Given the description of an element on the screen output the (x, y) to click on. 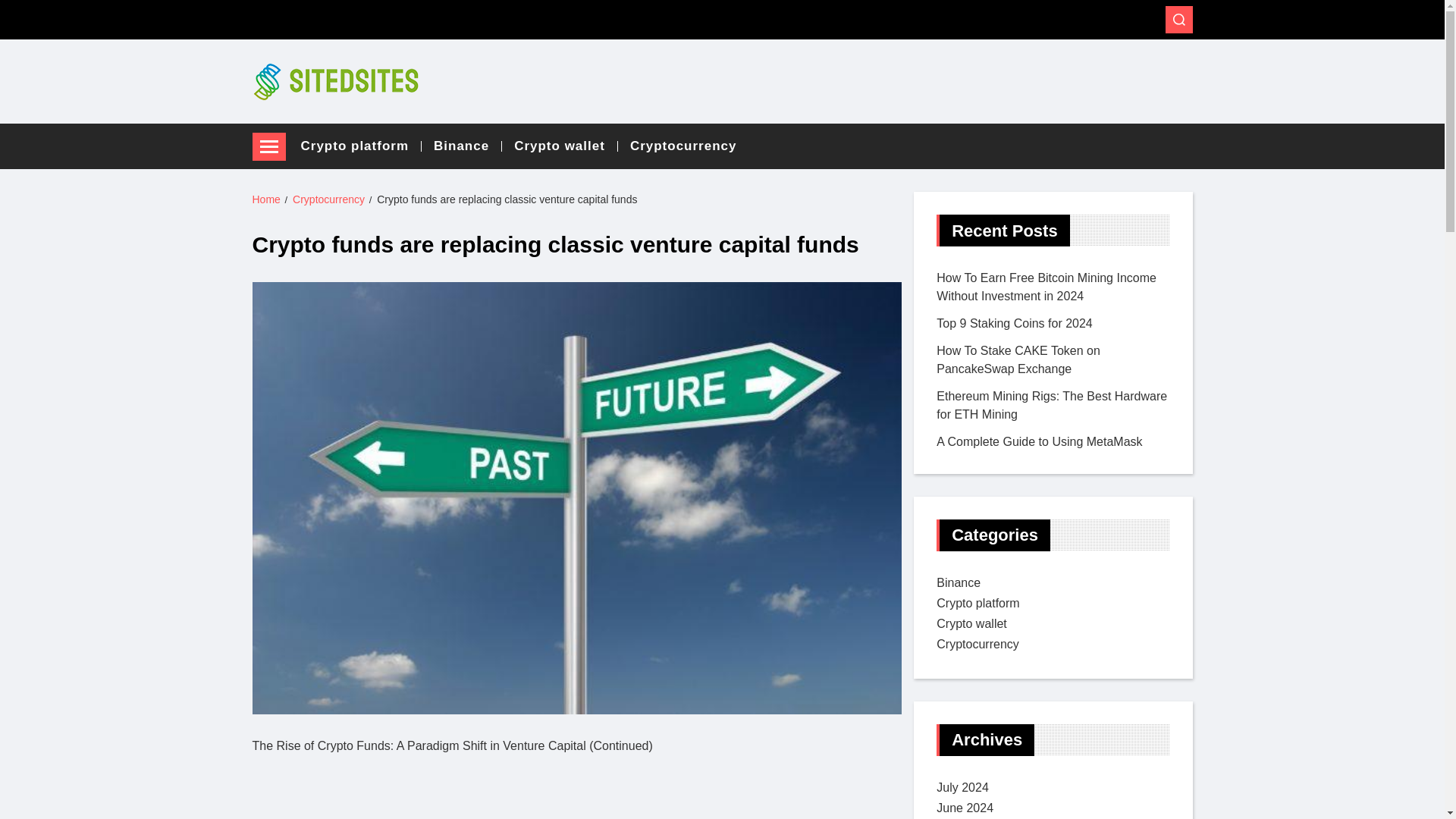
Cryptocurrency (683, 145)
Home (265, 199)
Ethereum Mining Rigs: The Best Hardware for ETH Mining (1051, 404)
Binance (467, 145)
How To Stake CAKE Token on PancakeSwap Exchange (1018, 359)
A Complete Guide to Using MetaMask (1038, 440)
Top 9 Staking Coins for 2024 (1014, 323)
Crypto wallet (565, 145)
Binance (957, 582)
Cryptocurrency (328, 199)
sitedsites (293, 117)
Crypto platform (360, 145)
